Given the description of an element on the screen output the (x, y) to click on. 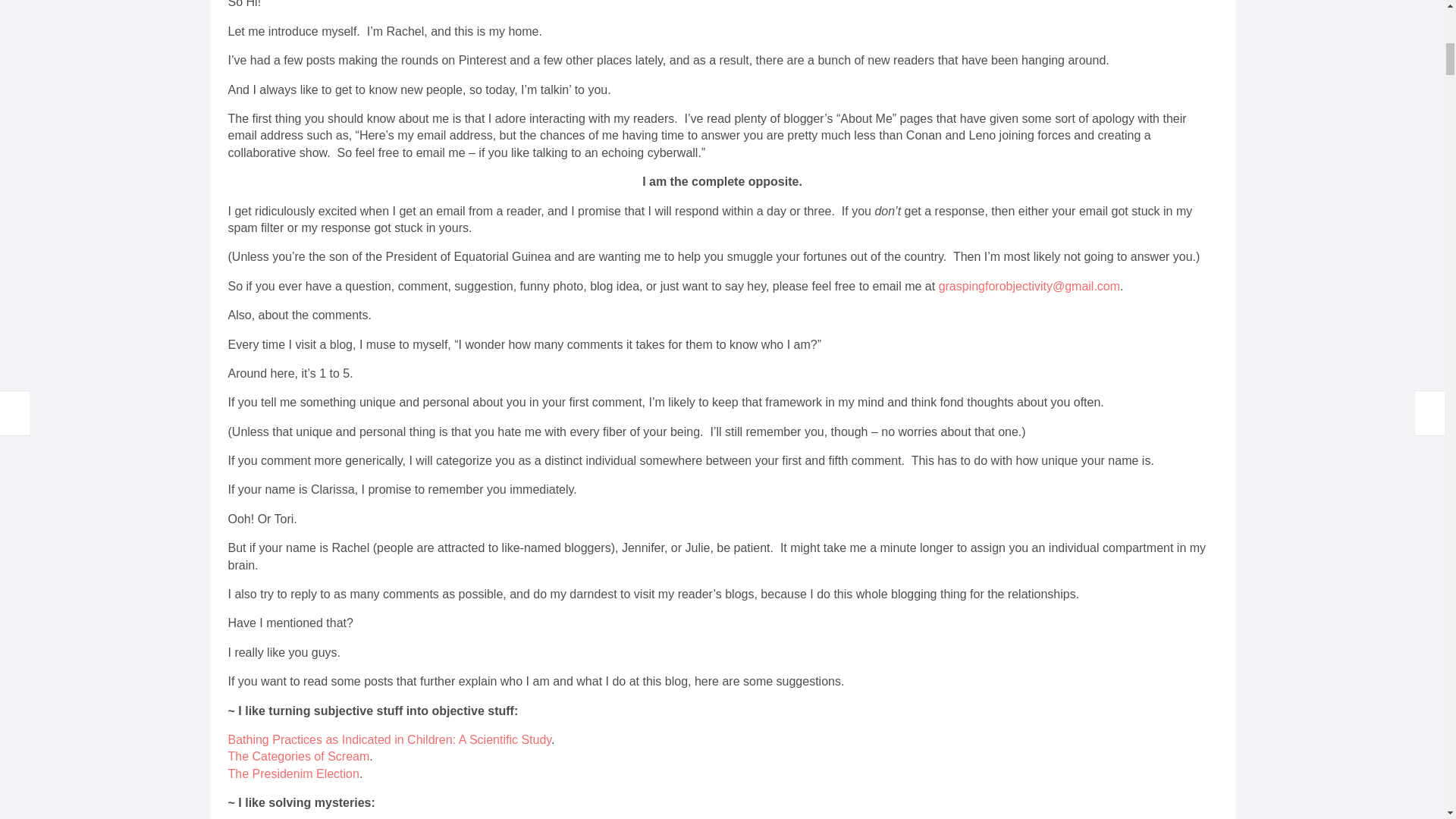
The Presidenim Election (292, 773)
The Categories of Scream (298, 756)
